Given the description of an element on the screen output the (x, y) to click on. 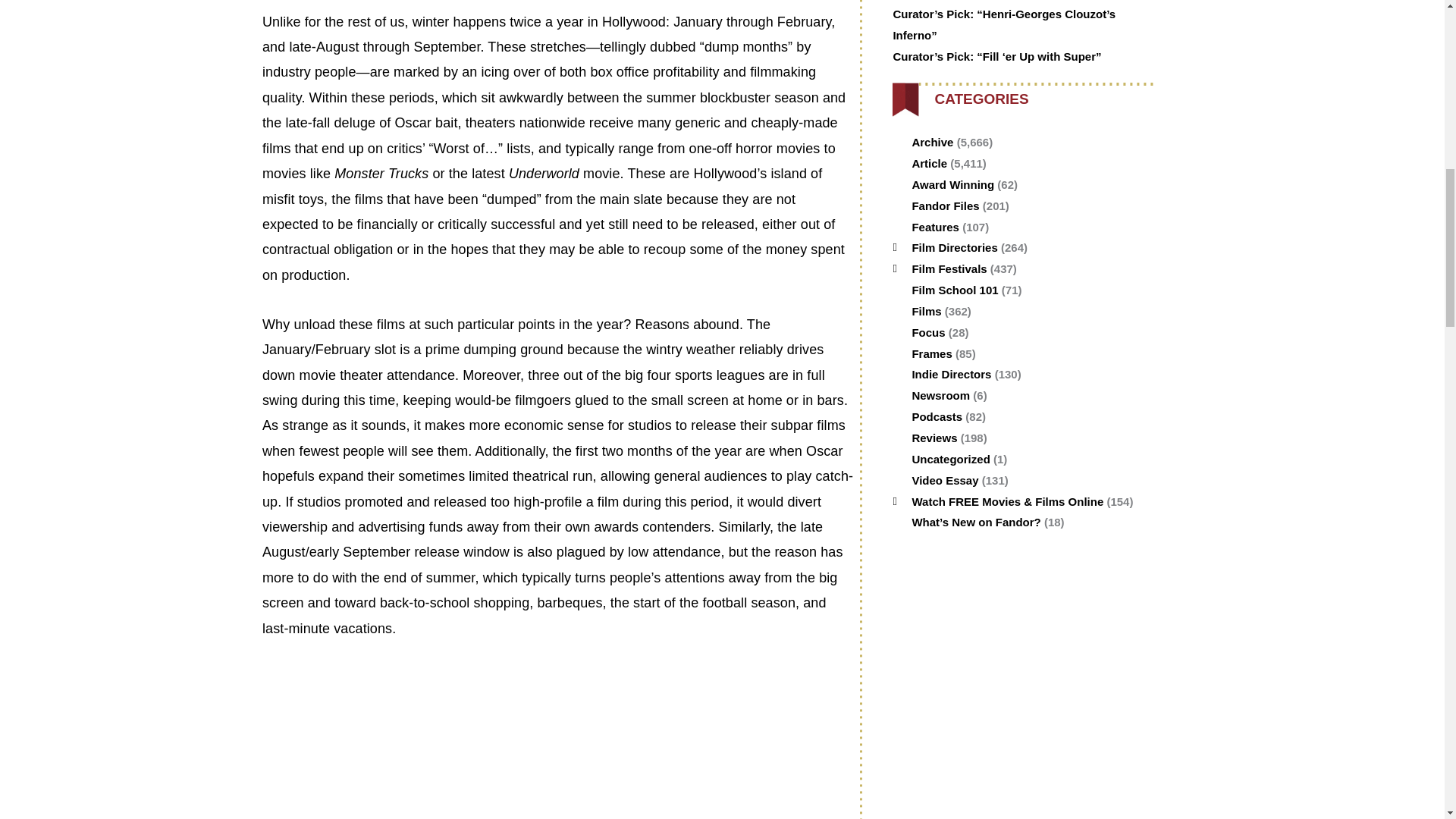
Article (929, 163)
Film Directories (954, 246)
Archive (932, 141)
Fandor Files (944, 205)
Features (935, 226)
Award Winning (952, 184)
Film Festivals (949, 268)
